Given the description of an element on the screen output the (x, y) to click on. 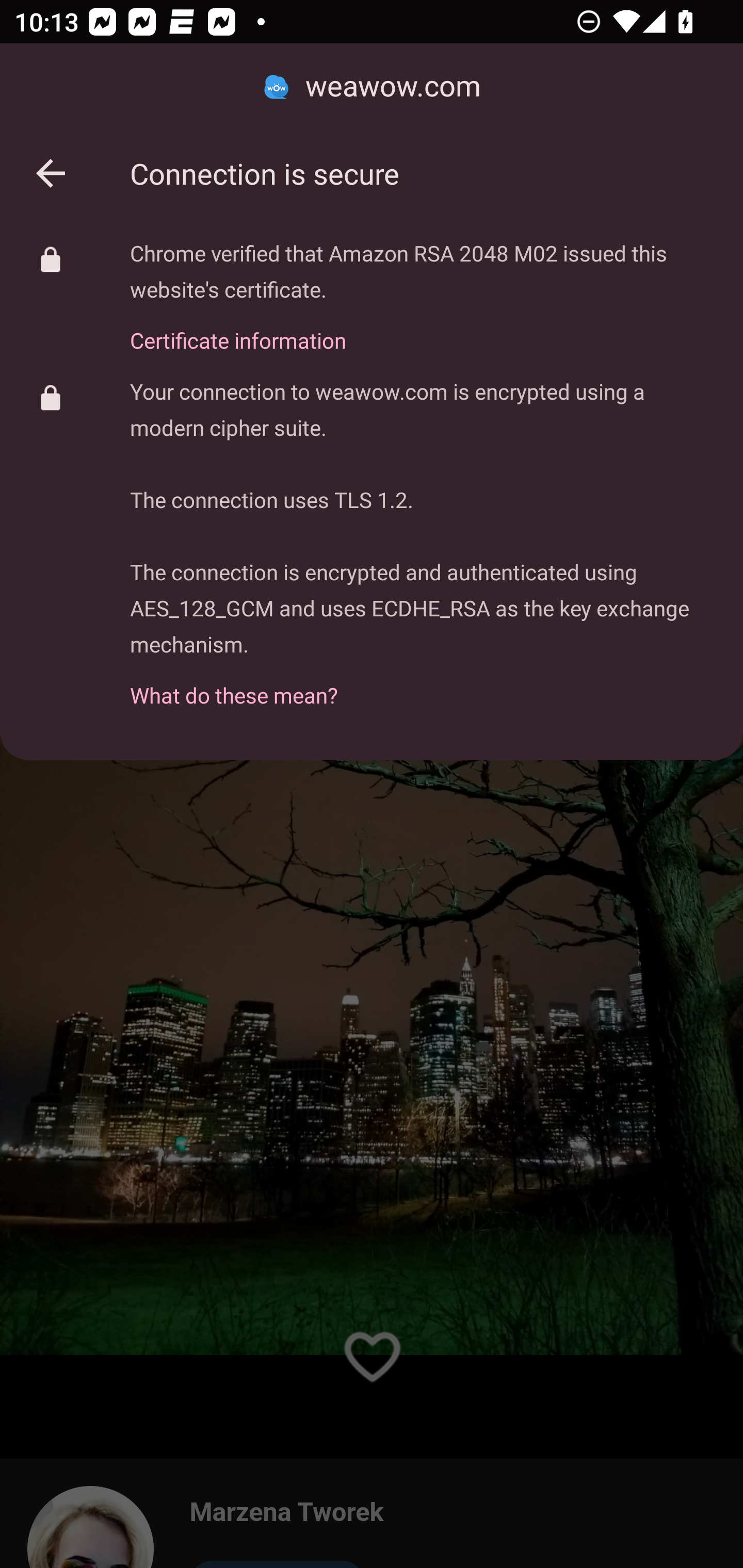
weawow.com (371, 86)
Back (50, 173)
Certificate information (422, 329)
What do these mean? (422, 684)
